Given the description of an element on the screen output the (x, y) to click on. 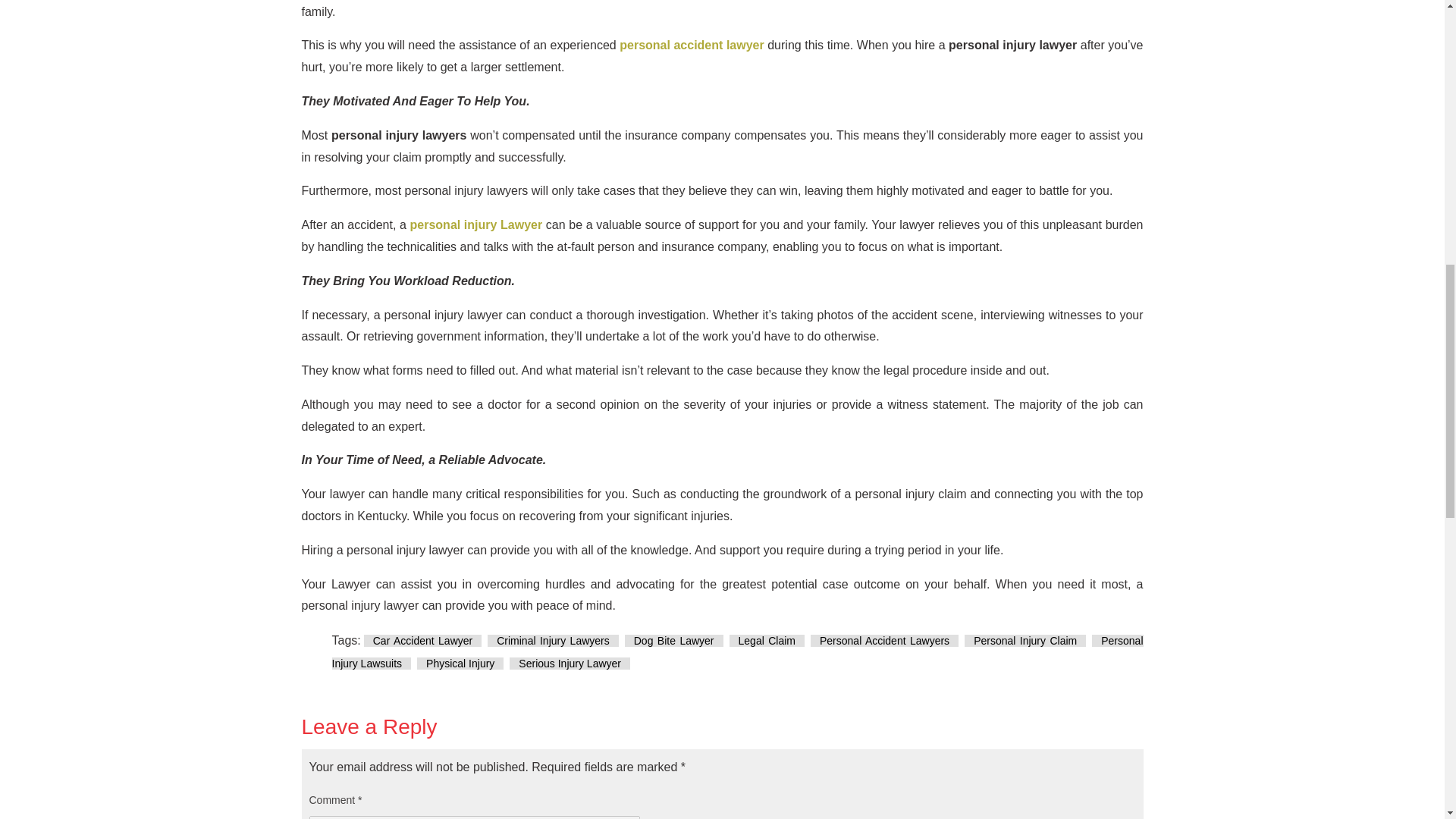
Car Accident Lawyer Tag (422, 640)
Personal Injury Lawsuits Tag (736, 651)
Legal Claim Tag (767, 640)
Personal Injury Claim Tag (1024, 640)
Physical Injury Tag (459, 663)
Serious Injury Lawyer Tag (569, 663)
Criminal Injury Lawyers Tag (552, 640)
Personal Accident Lawyers Tag (884, 640)
Dog Bite Lawyer Tag (673, 640)
